Given the description of an element on the screen output the (x, y) to click on. 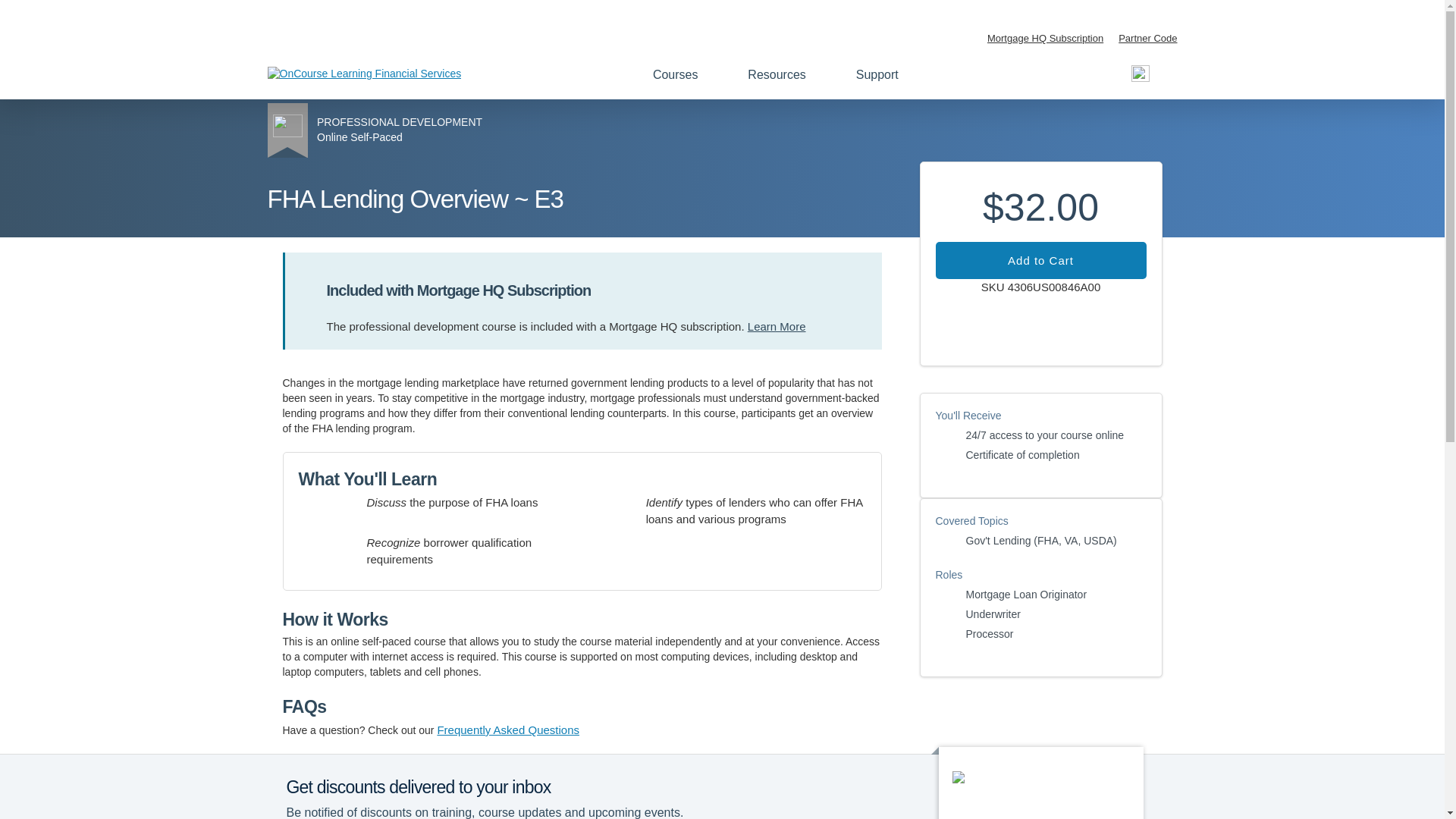
Mortgage HQ Subscription (1045, 38)
Courses (683, 74)
Resources (785, 74)
OnCourse Learning Financial Services (363, 73)
Mortgage HQ Subscription (1045, 38)
My Cart (1140, 73)
Support (885, 74)
Partner Code (1147, 38)
Support (885, 74)
